Given the description of an element on the screen output the (x, y) to click on. 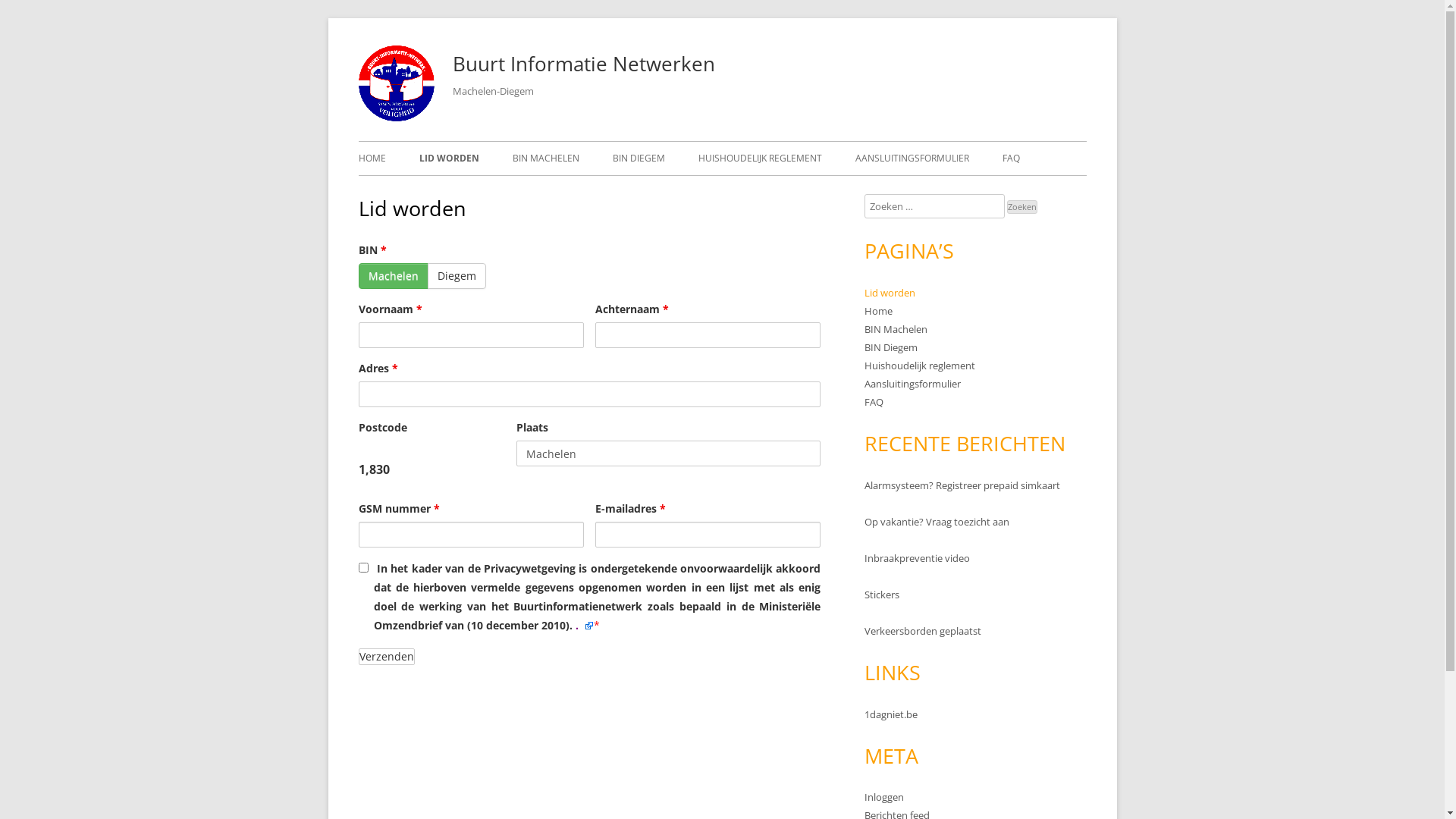
Home Element type: text (878, 310)
AANSLUITINGSFORMULIER Element type: text (912, 158)
Zoeken Element type: text (1022, 206)
. Element type: text (583, 625)
BIN MACHELEN Element type: text (545, 158)
1dagniet.be Element type: text (890, 714)
Machelen Element type: text (392, 275)
Inbraakpreventie video Element type: text (916, 557)
Lid worden Element type: text (889, 292)
Verzenden Element type: text (385, 656)
Alarmsysteem? Registreer prepaid simkaart Element type: text (962, 485)
FAQ Element type: text (1010, 158)
Op vakantie? Vraag toezicht aan Element type: text (936, 521)
BIN Diegem Element type: text (890, 347)
HUISHOUDELIJK REGLEMENT Element type: text (759, 158)
Verkeersborden geplaatst Element type: text (922, 630)
BIN Machelen Element type: text (895, 328)
Buurt Informatie Netwerken Element type: text (582, 63)
Huishoudelijk reglement Element type: text (919, 365)
Inloggen Element type: text (883, 796)
Diegem Element type: text (456, 275)
Stickers Element type: text (881, 594)
Skip to content Element type: text (900, 45)
HOME Element type: text (371, 158)
BIN DIEGEM Element type: text (638, 158)
Aansluitingsformulier Element type: text (912, 383)
Buurt Informatie Netwerken Element type: hover (395, 116)
LID WORDEN Element type: text (448, 158)
FAQ Element type: text (873, 401)
